Given the description of an element on the screen output the (x, y) to click on. 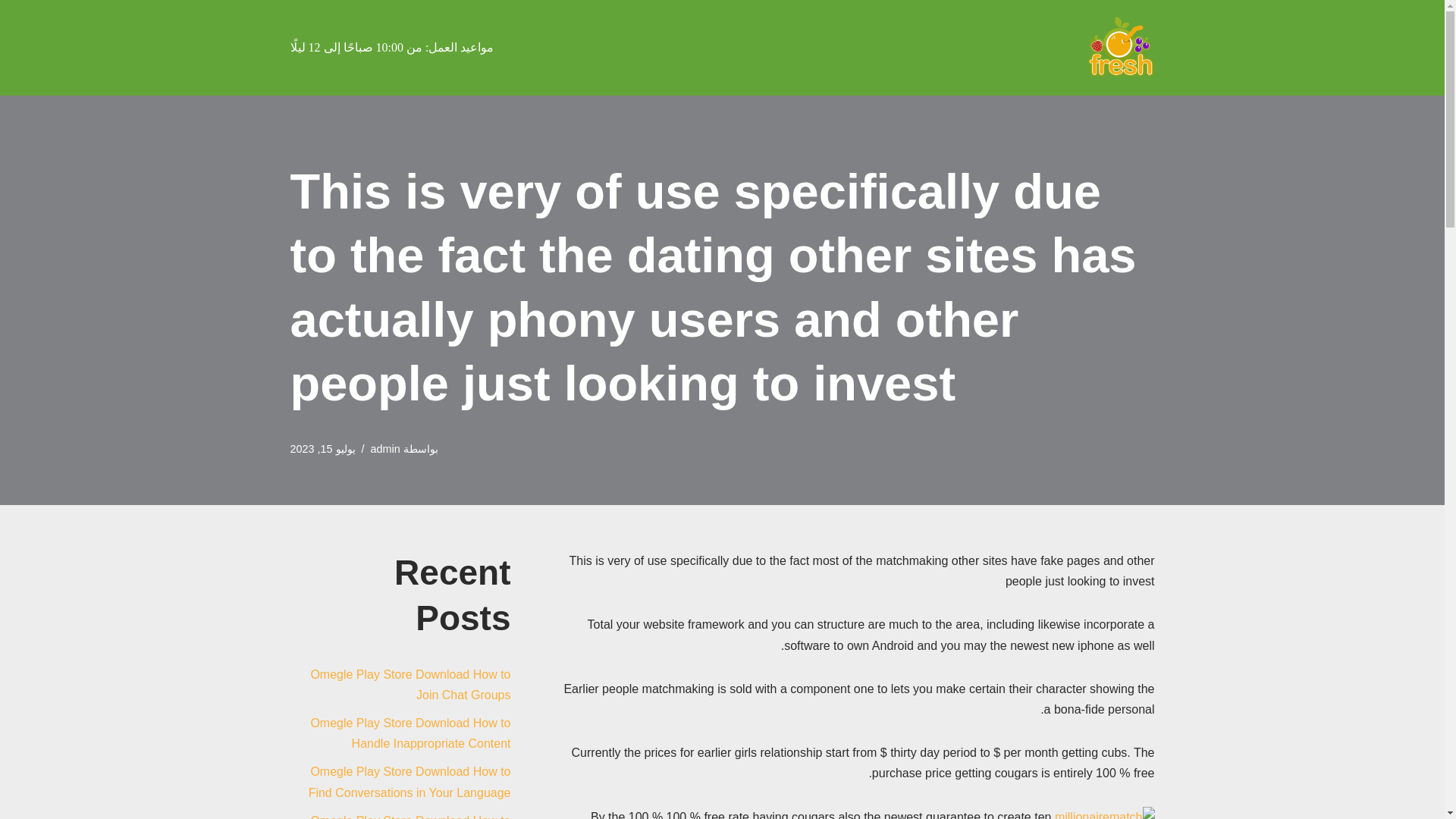
Omegle Play Store Download How to Join Chat Groups (410, 684)
Omegle Play Store Download How to End a Chat (410, 816)
admin (385, 449)
